Given the description of an element on the screen output the (x, y) to click on. 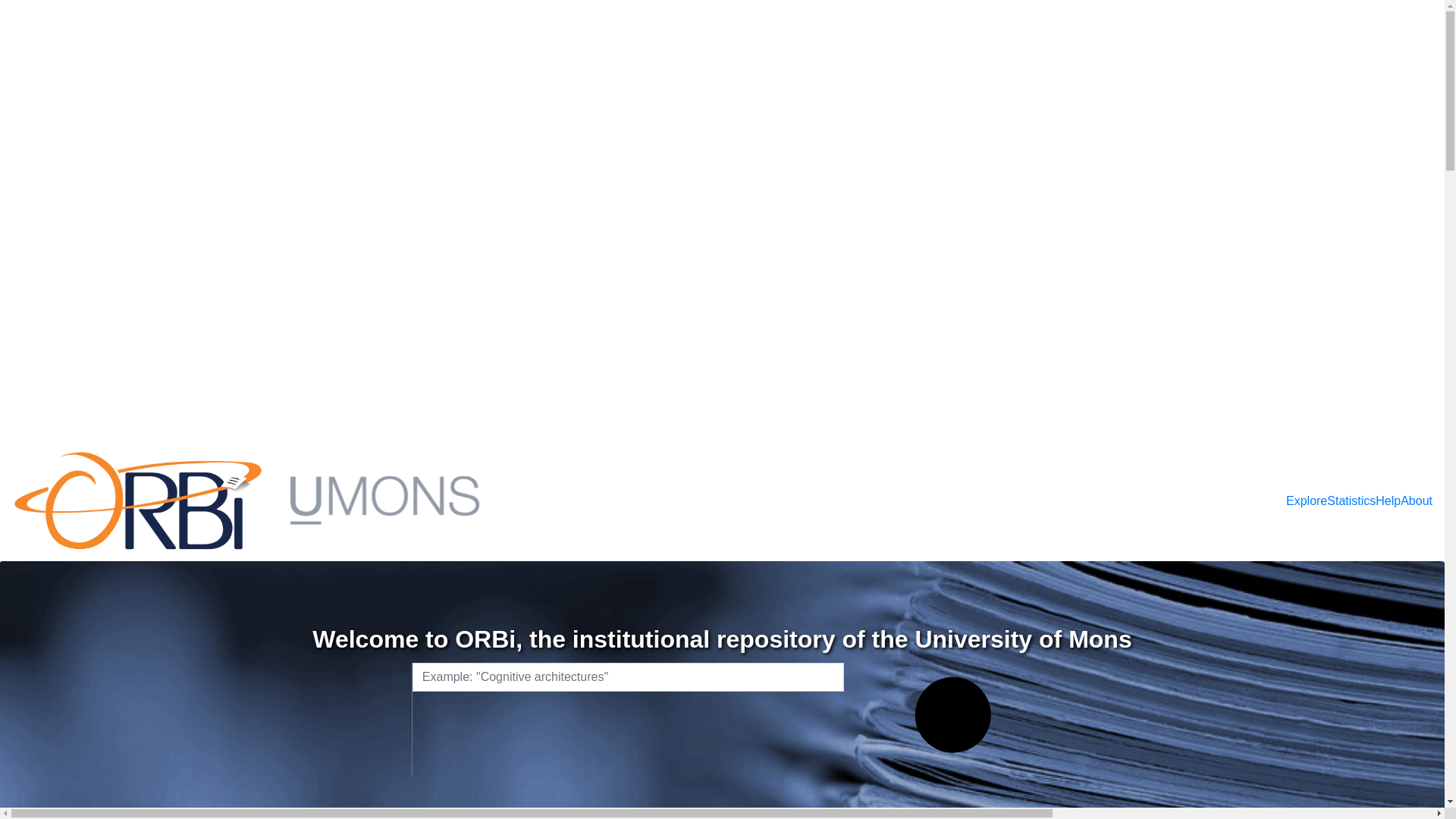
Statistics Element type: text (1351, 500)
Help Element type: text (1387, 500)
Explore Element type: text (1306, 500)
All Element type: text (391, 671)
About Element type: text (1416, 500)
